Given the description of an element on the screen output the (x, y) to click on. 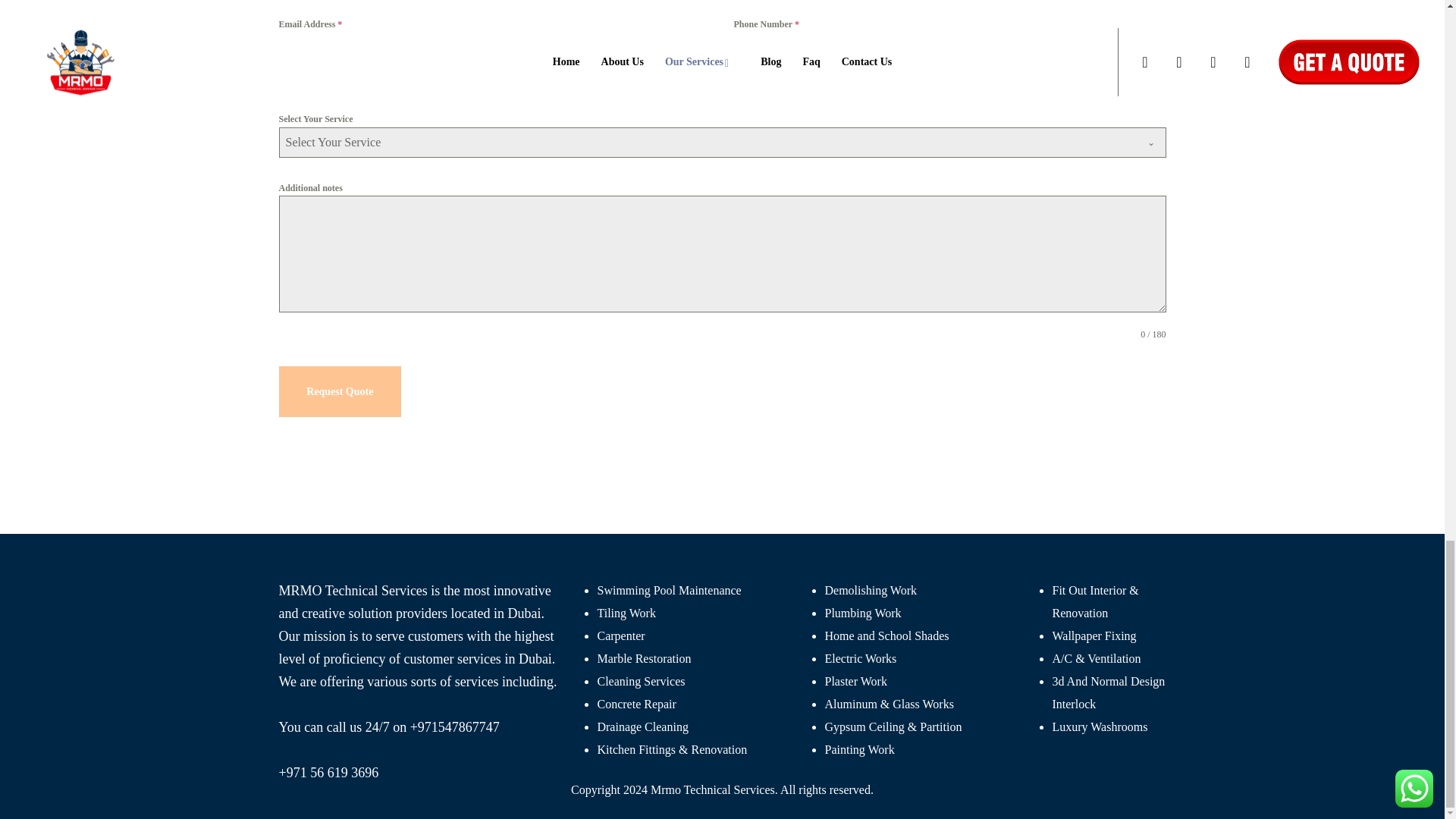
Swimming Pool Maintenance (668, 590)
Select Your Service (707, 141)
Tiling Work (625, 612)
Request Quote (340, 391)
